Given the description of an element on the screen output the (x, y) to click on. 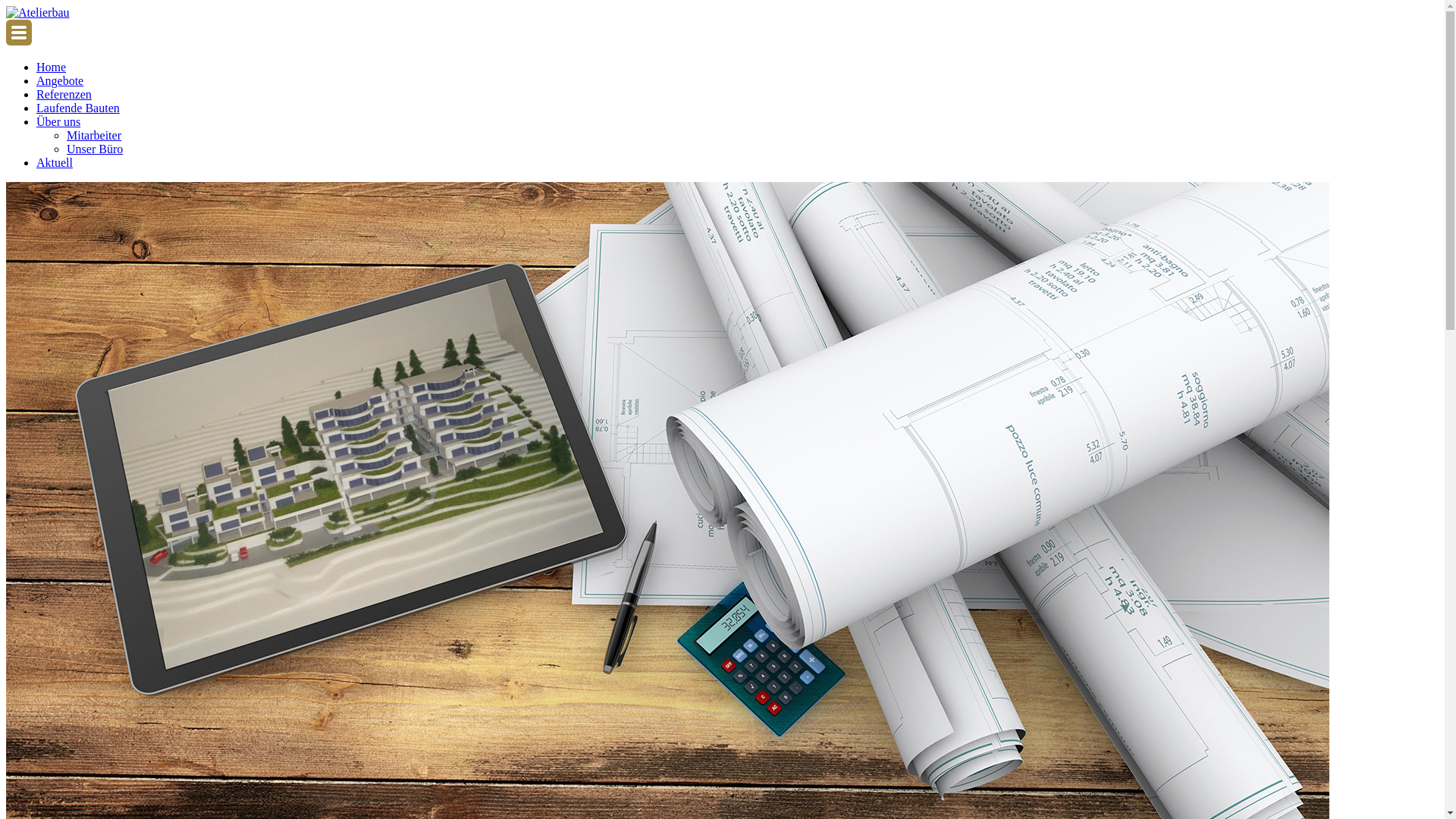
Home Element type: text (50, 66)
Aktuell Element type: text (54, 162)
Laufende Bauten Element type: text (77, 107)
Angebote Element type: text (59, 80)
Mitarbeiter Element type: text (93, 134)
Referenzen Element type: text (63, 93)
Atelierbau Element type: hover (37, 12)
